Given the description of an element on the screen output the (x, y) to click on. 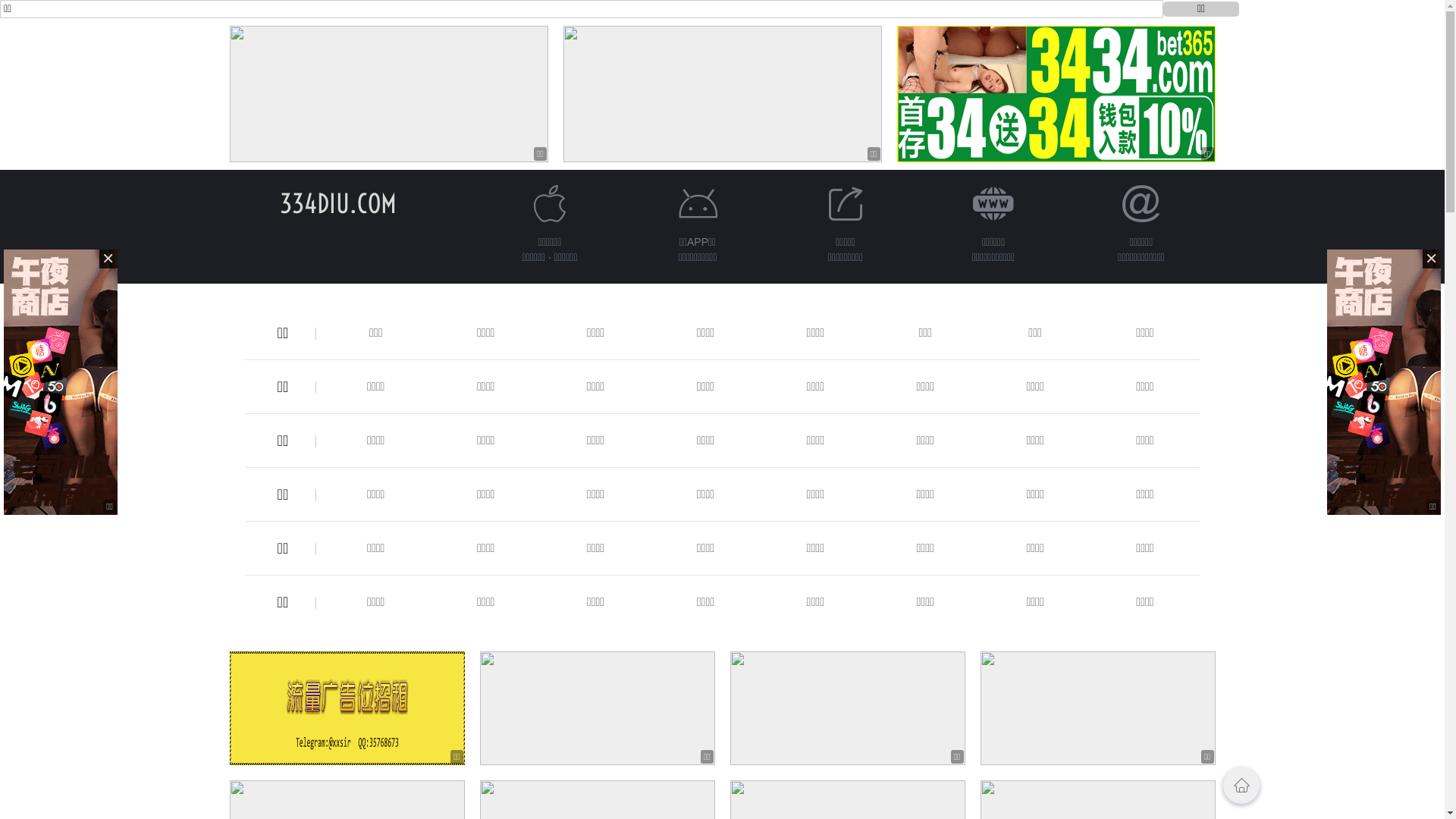
334DIU.COM Element type: text (337, 203)
